Given the description of an element on the screen output the (x, y) to click on. 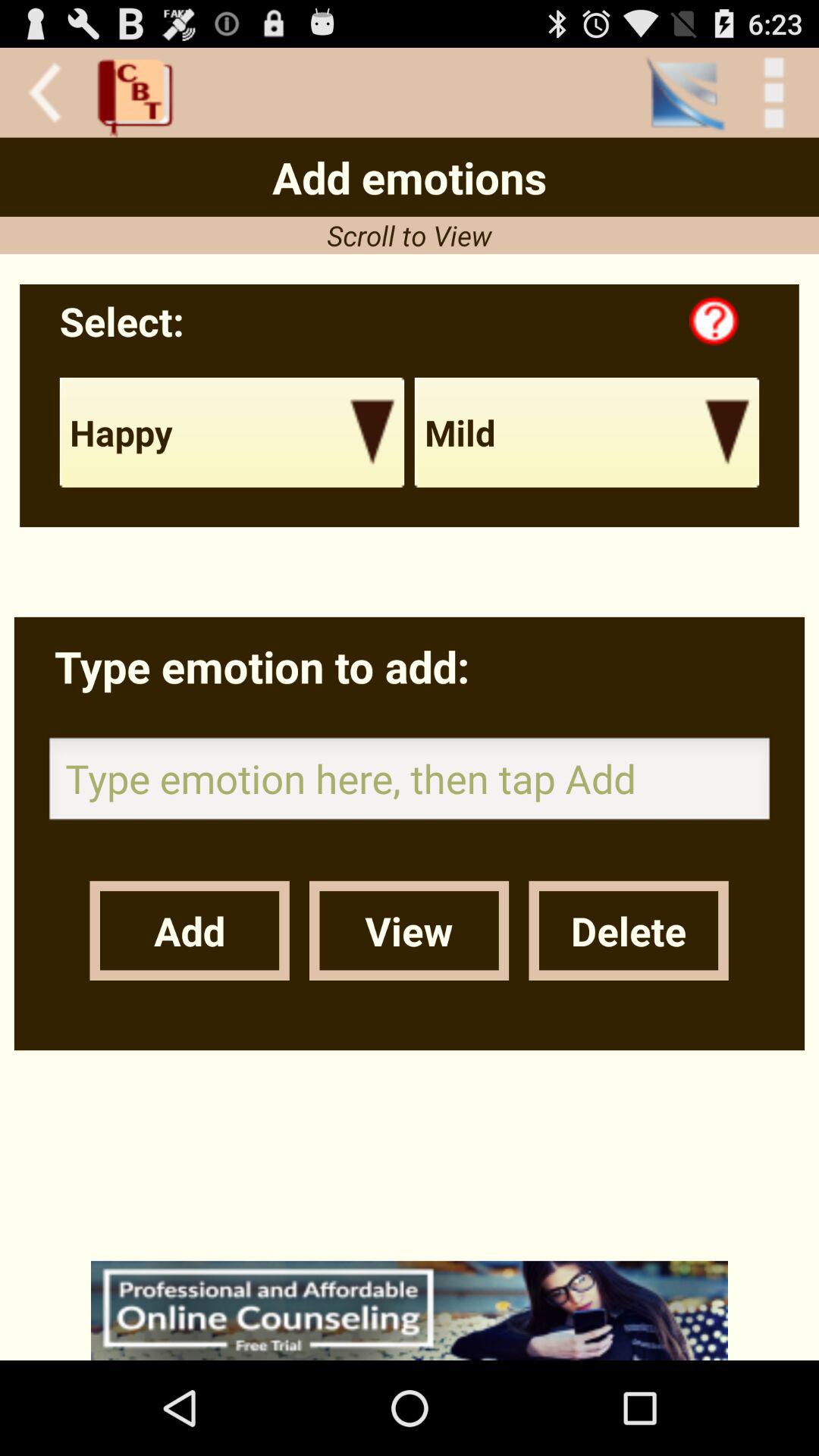
search about add (409, 1310)
